Given the description of an element on the screen output the (x, y) to click on. 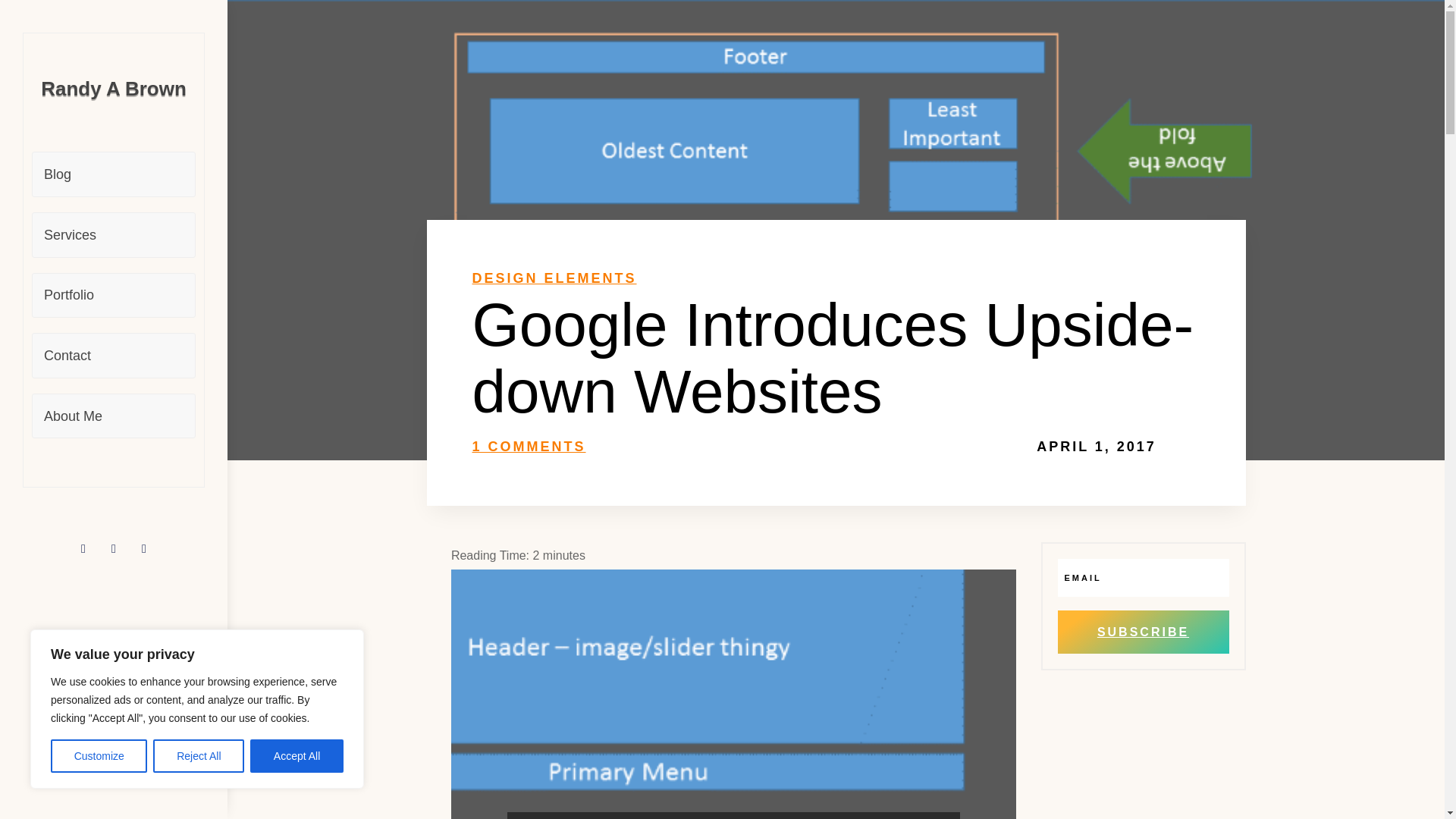
Accept All (296, 756)
Blog (113, 174)
Reject All (198, 756)
Portfolio (113, 295)
DESIGN ELEMENTS (553, 278)
Follow on LinkedIn (143, 549)
Contact (113, 355)
About Me (113, 415)
1 COMMENTS (528, 446)
Follow on X (113, 549)
Follow on Facebook (83, 549)
Services (113, 234)
Customize (98, 756)
